Given the description of an element on the screen output the (x, y) to click on. 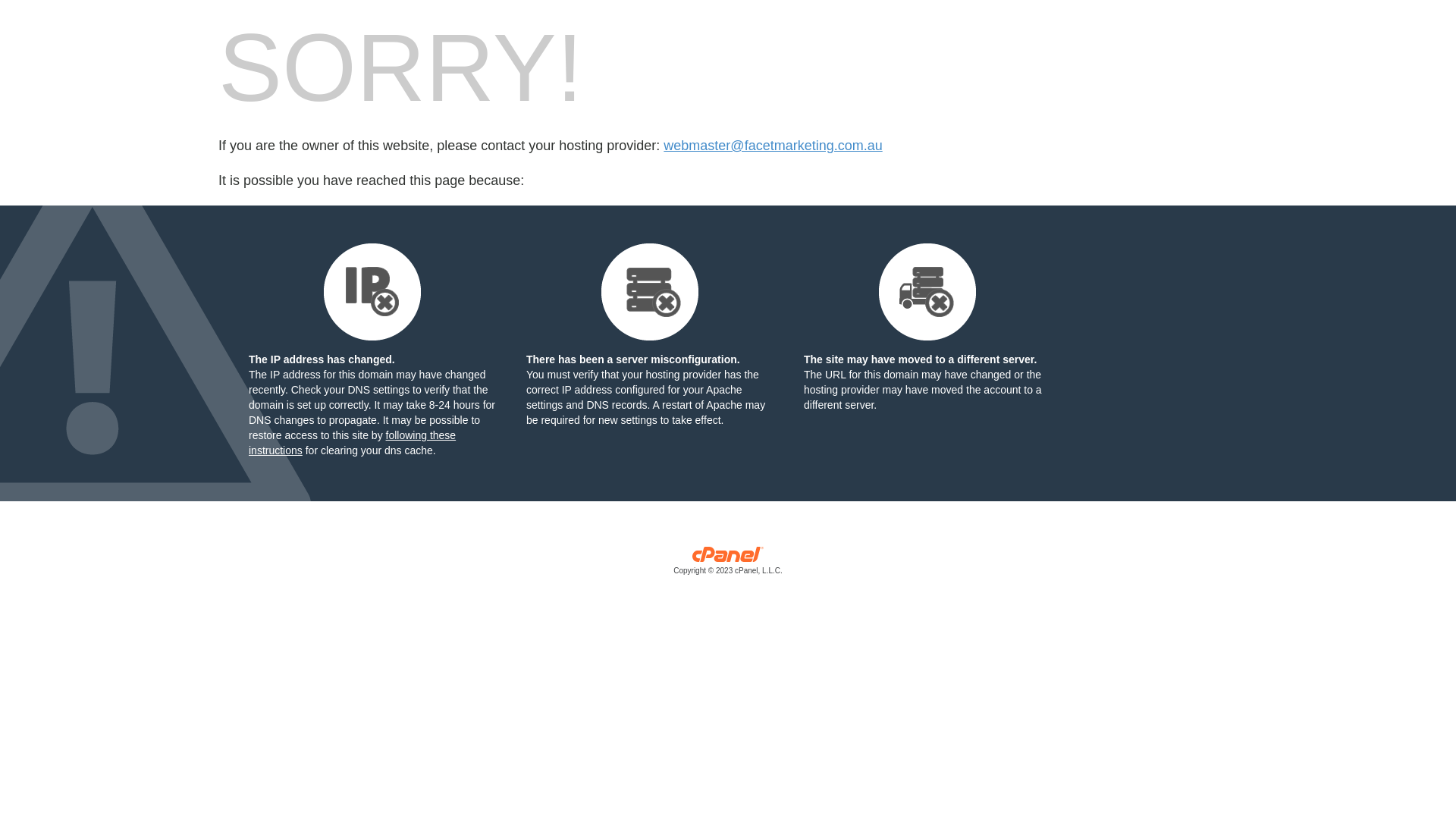
webmaster@facetmarketing.com.au Element type: text (772, 145)
following these instructions Element type: text (351, 442)
